Given the description of an element on the screen output the (x, y) to click on. 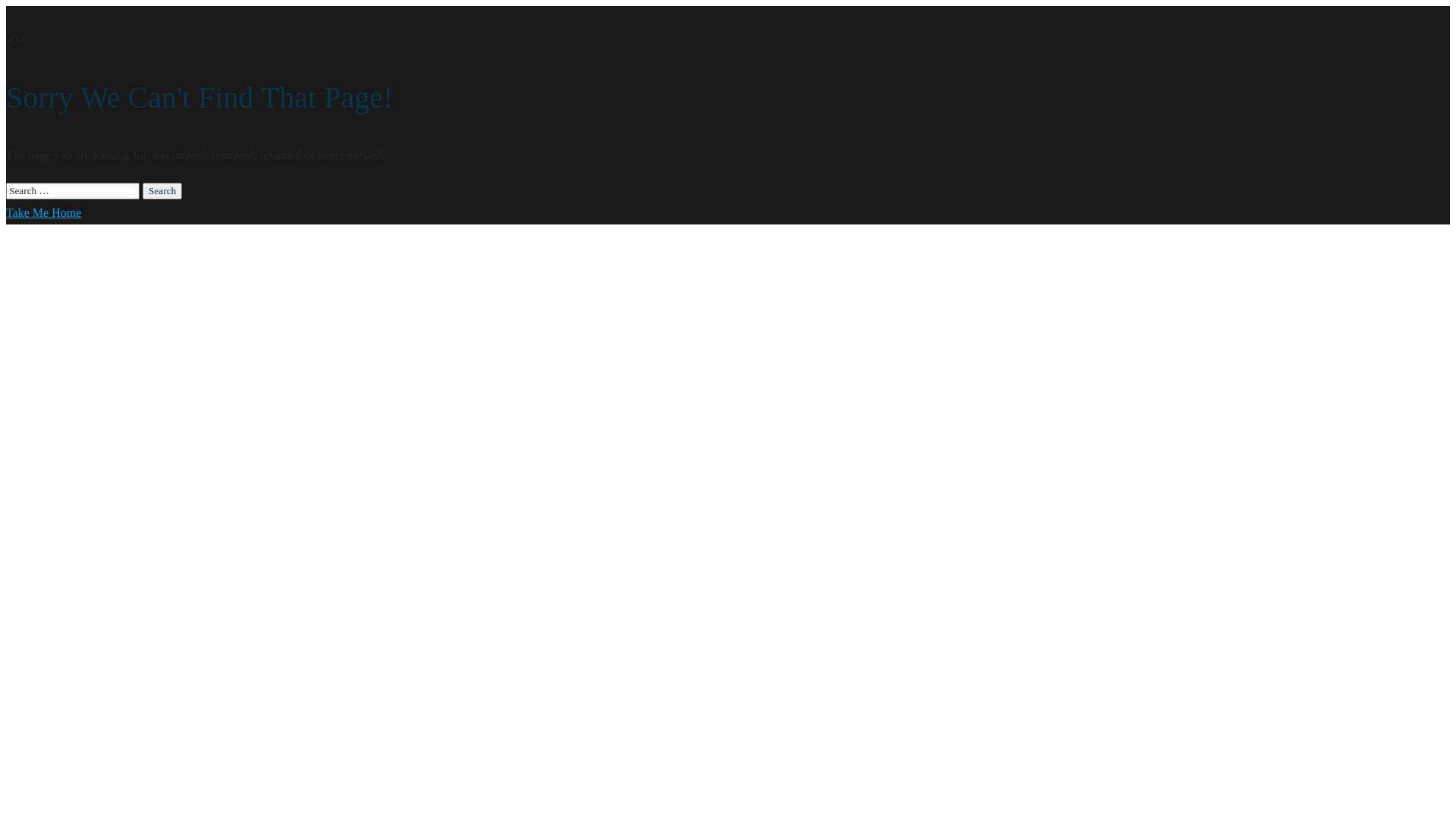
Search Element type: text (162, 190)
Take Me Home Element type: text (43, 212)
